Given the description of an element on the screen output the (x, y) to click on. 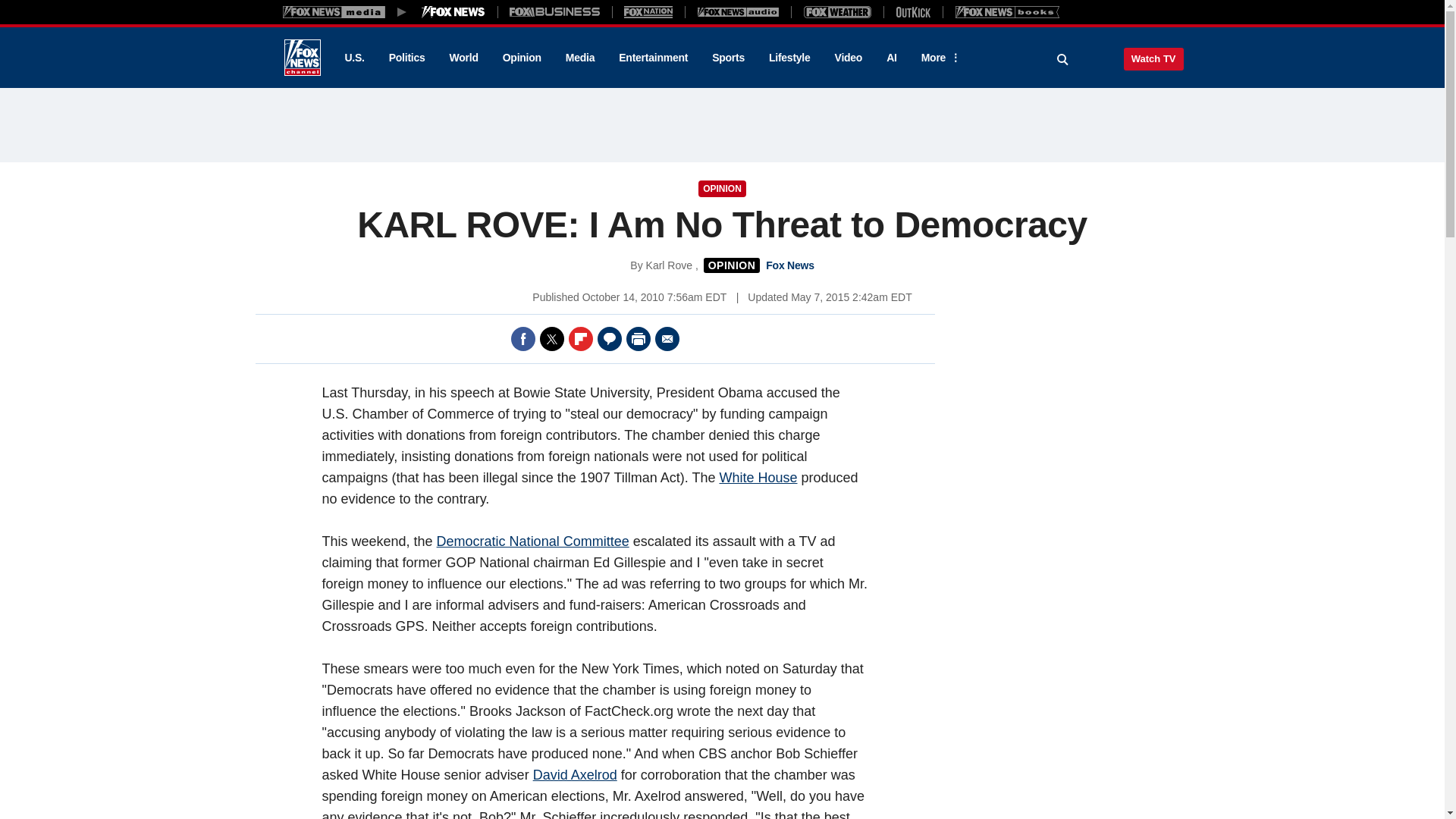
World (464, 57)
More (938, 57)
Books (1007, 11)
Fox News (301, 57)
U.S. (353, 57)
Sports (728, 57)
Video (848, 57)
AI (891, 57)
Fox News Media (453, 11)
Opinion (521, 57)
